Given the description of an element on the screen output the (x, y) to click on. 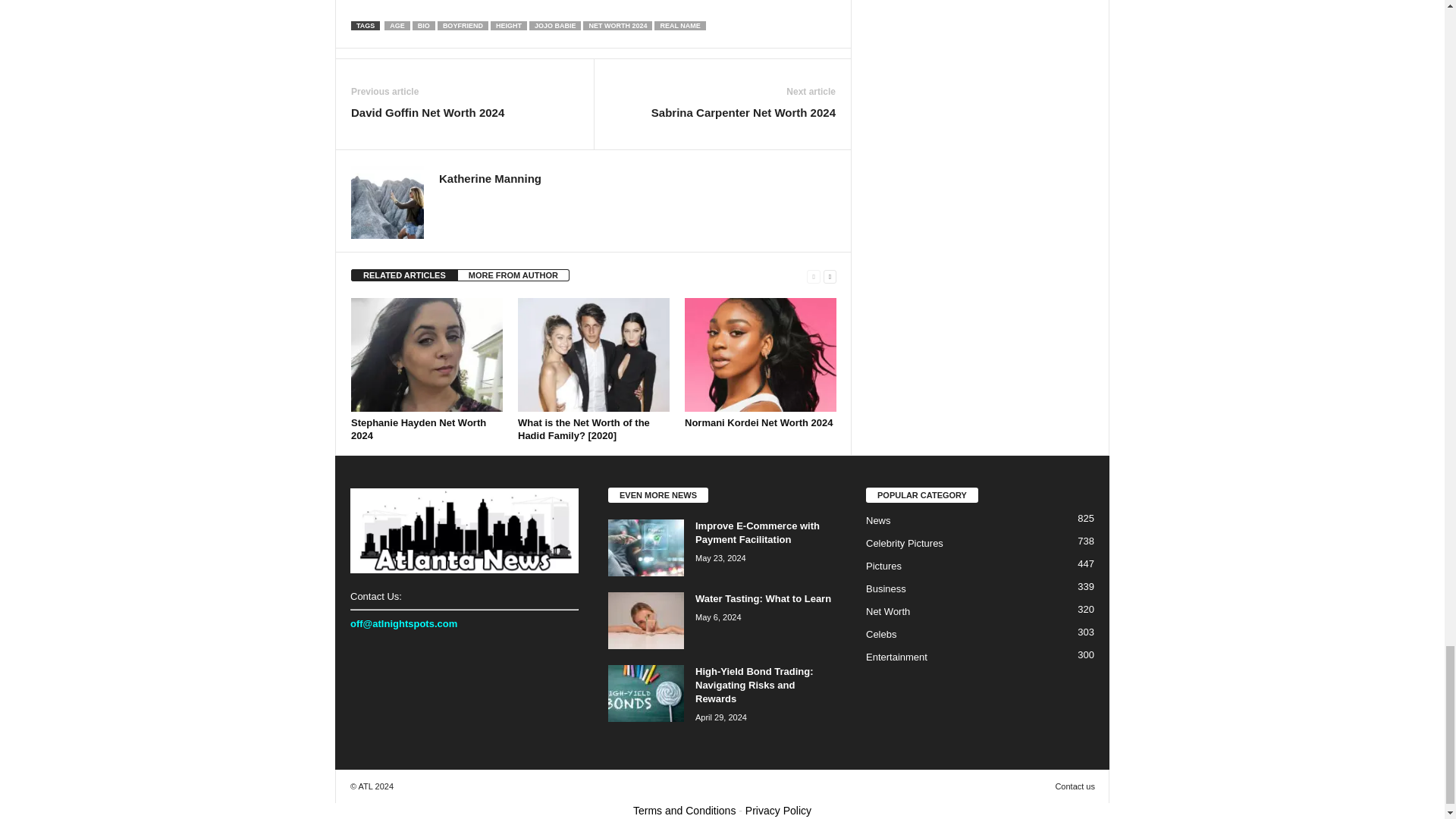
Stephanie Hayden Net Worth 2024 (418, 428)
BIO (423, 25)
BOYFRIEND (462, 25)
NET WORTH 2024 (617, 25)
REAL NAME (678, 25)
David Goffin Net Worth 2024 (426, 112)
Sabrina Carpenter Net Worth 2024 (742, 112)
JOJO BABIE (554, 25)
Stephanie Hayden Net Worth 2024 (426, 354)
Normani Kordei Net Worth 2024 (758, 422)
HEIGHT (508, 25)
AGE (397, 25)
Normani Kordei Net Worth 2024 (759, 354)
